Given the description of an element on the screen output the (x, y) to click on. 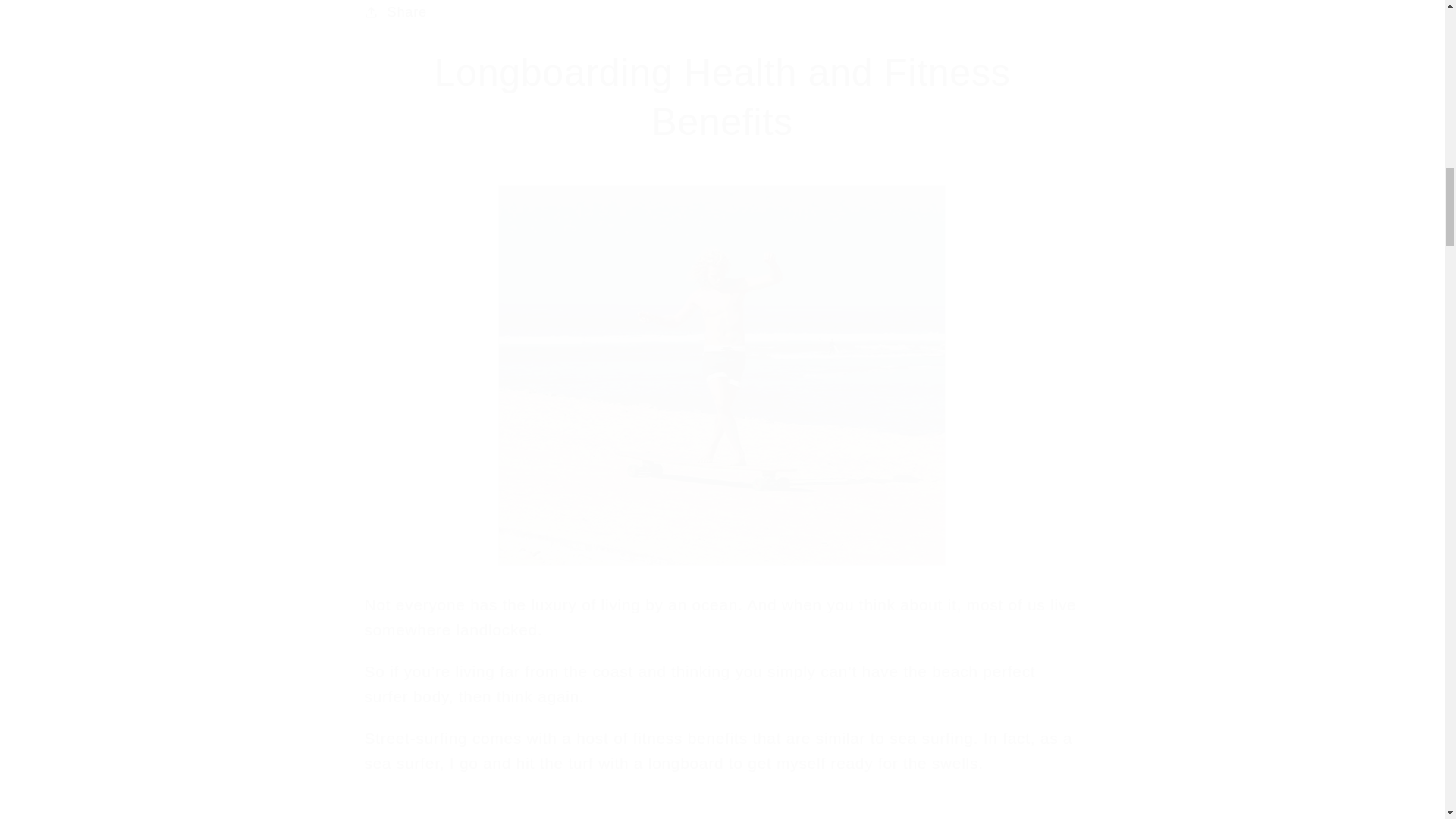
Share (722, 17)
